Given the description of an element on the screen output the (x, y) to click on. 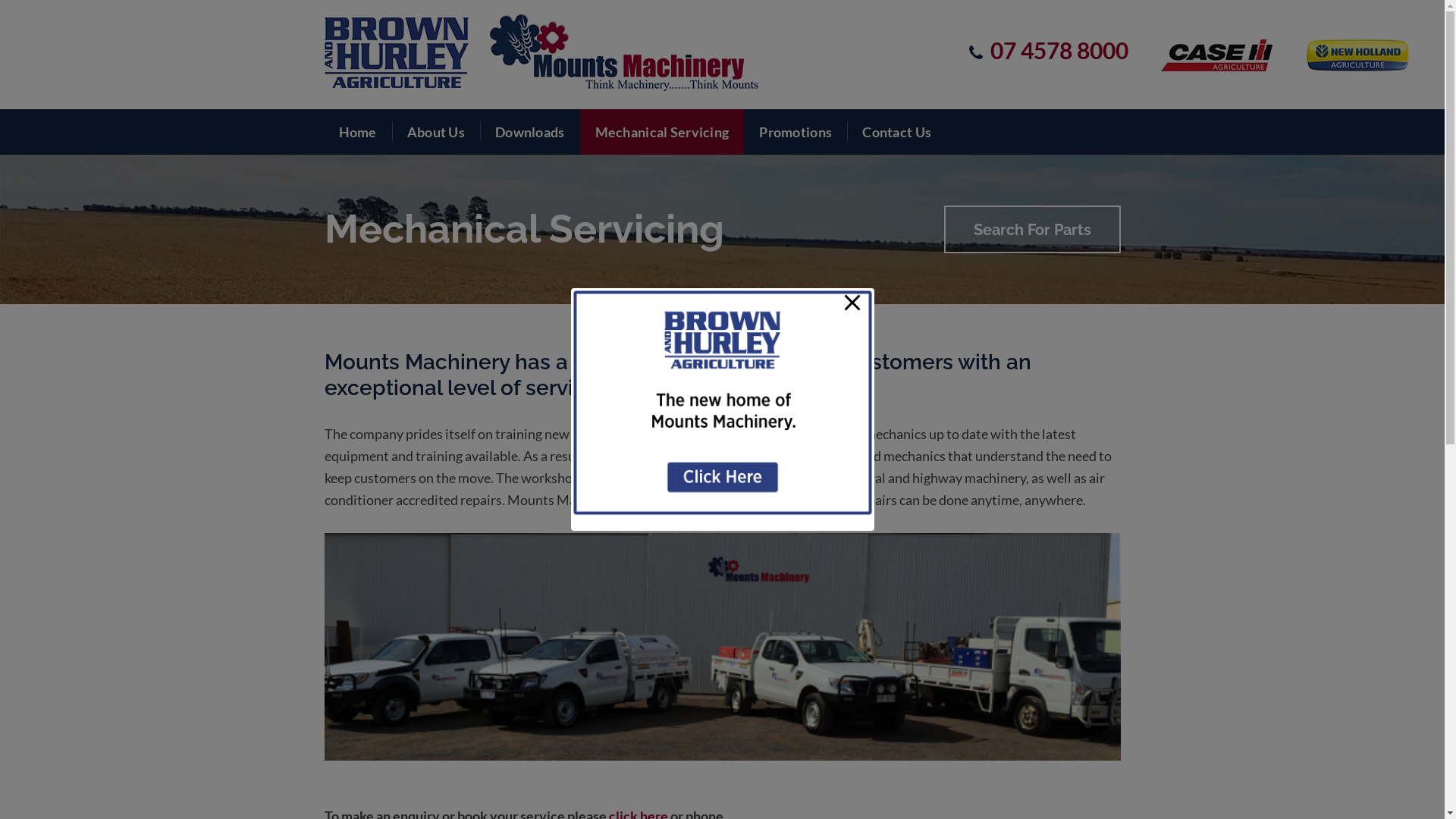
Mechanical Servicing Element type: text (662, 131)
Home Element type: text (357, 131)
Search For Parts Element type: text (1031, 229)
Downloads Element type: text (530, 131)
Contact Us Element type: text (897, 131)
About Us Element type: text (436, 131)
Promotions Element type: text (795, 131)
07 4578 8000 Element type: text (1059, 49)
